Given the description of an element on the screen output the (x, y) to click on. 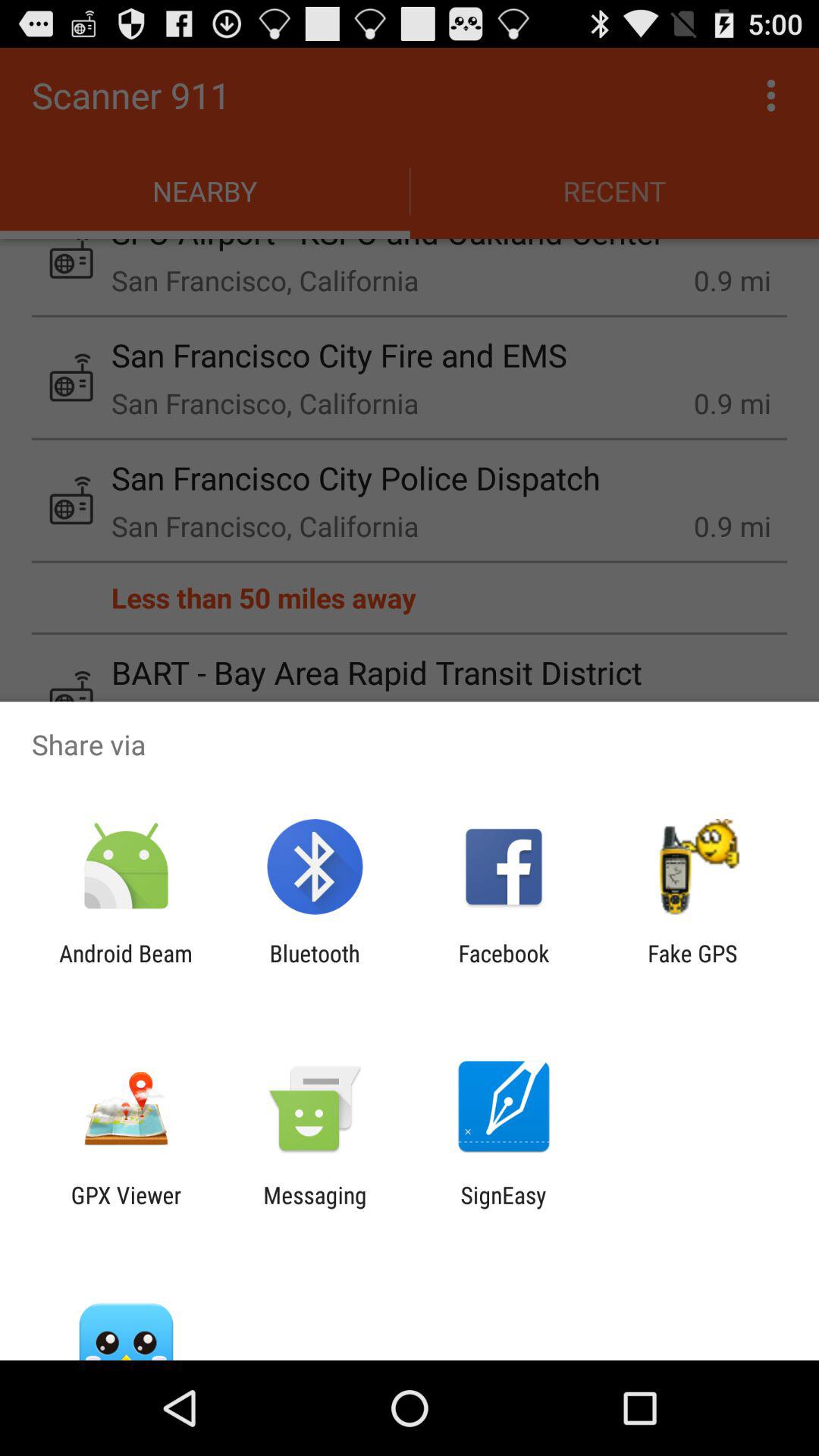
choose the icon to the left of fake gps app (503, 966)
